Given the description of an element on the screen output the (x, y) to click on. 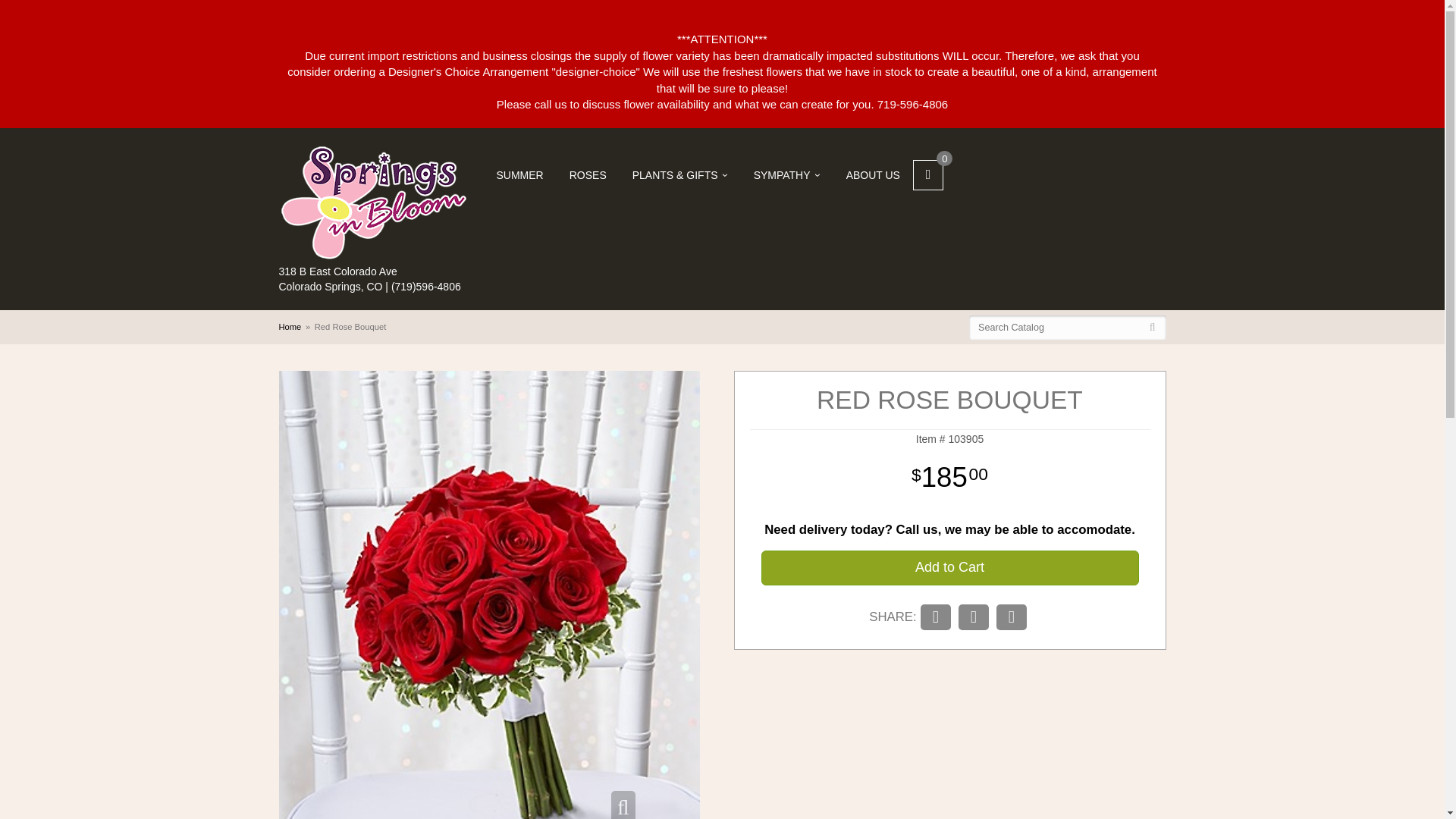
SYMPATHY (786, 175)
SUMMER (519, 175)
0 (927, 174)
Add to Cart (949, 567)
ABOUT US (872, 175)
Home (290, 325)
ROSES (588, 175)
